Given the description of an element on the screen output the (x, y) to click on. 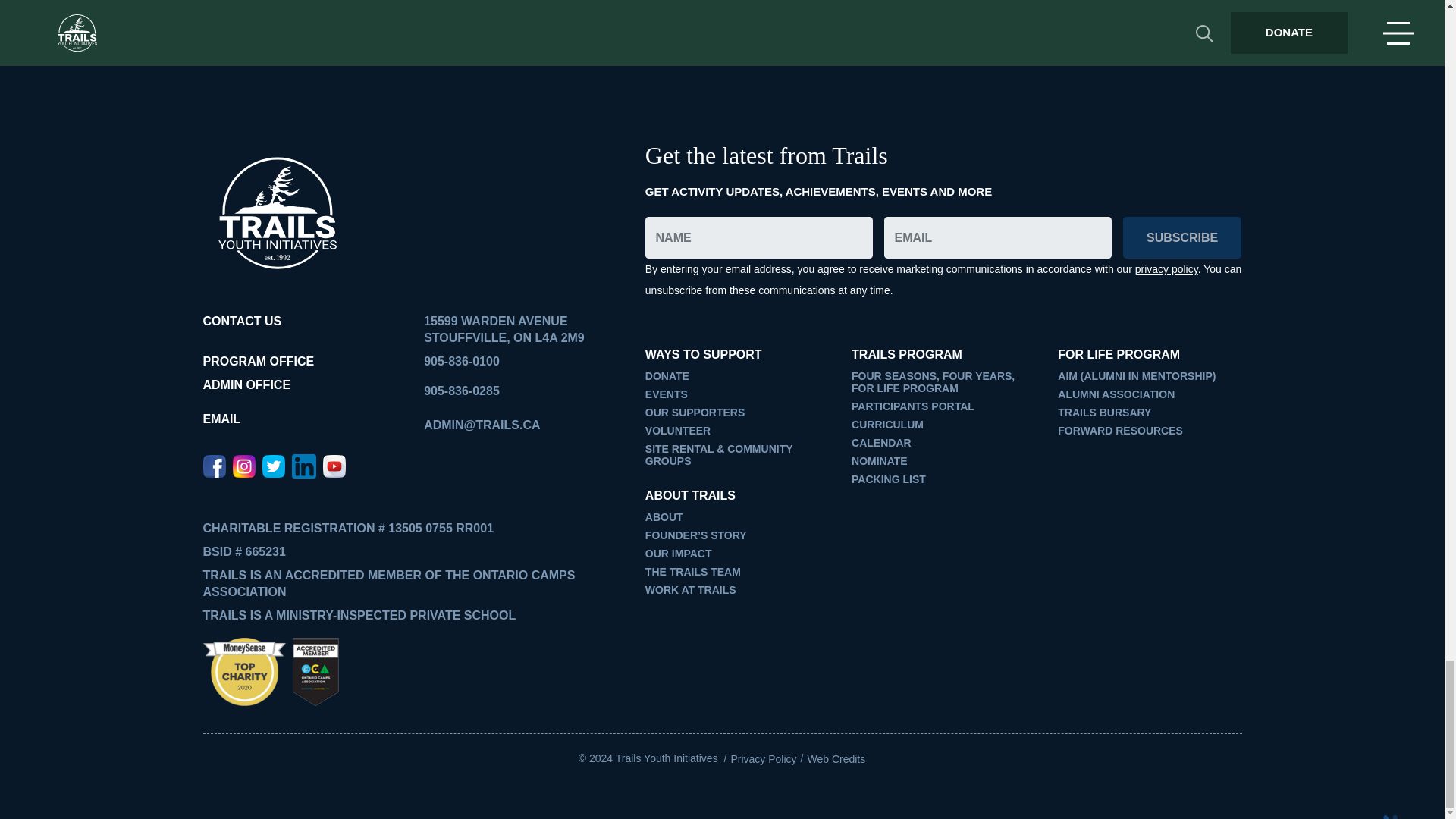
Subscribe (1181, 237)
